Given the description of an element on the screen output the (x, y) to click on. 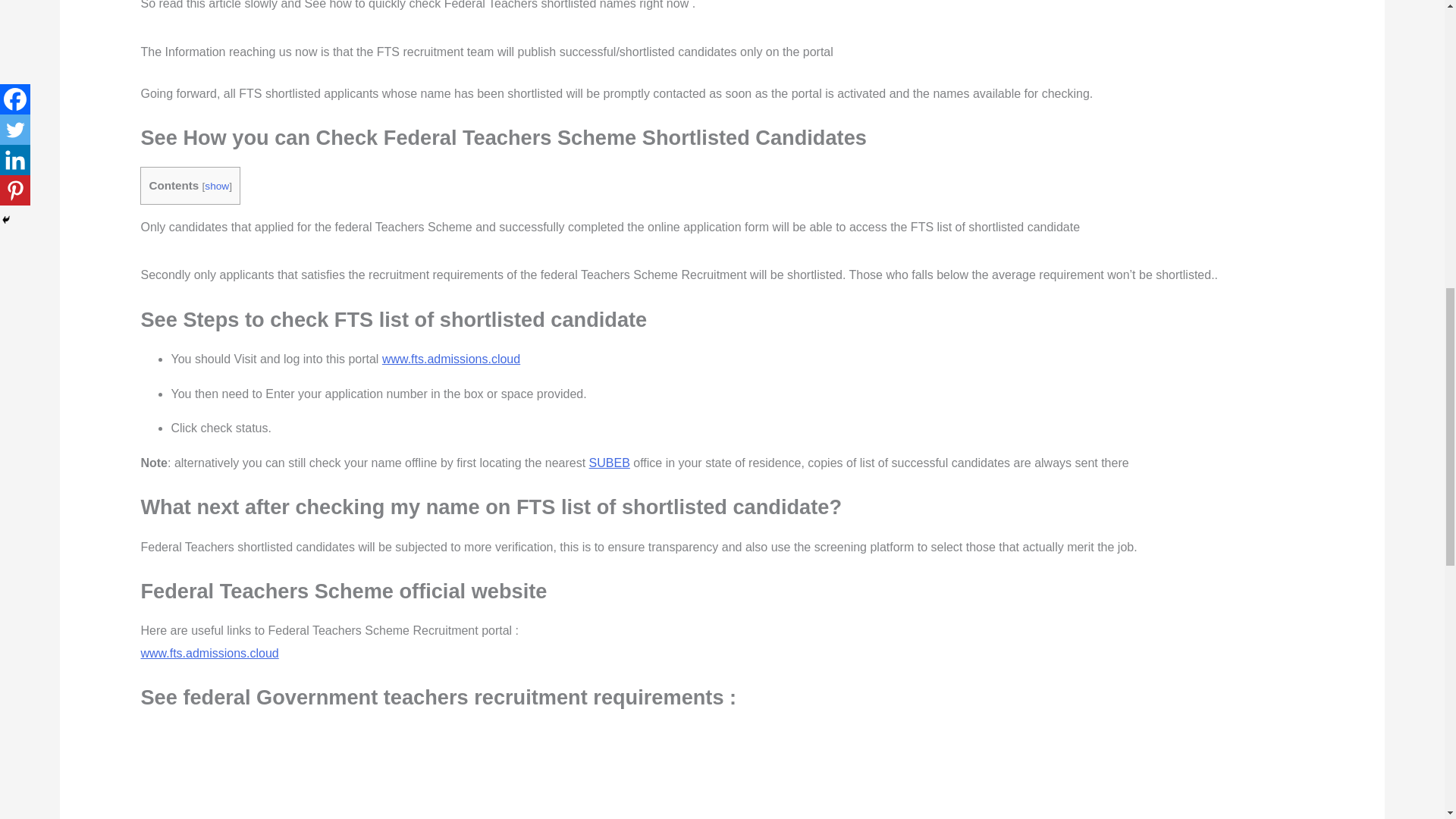
www.fts.admissions.cloud (450, 358)
show (216, 185)
www.fts.admissions.cloud (208, 653)
SUBEB (609, 462)
